Given the description of an element on the screen output the (x, y) to click on. 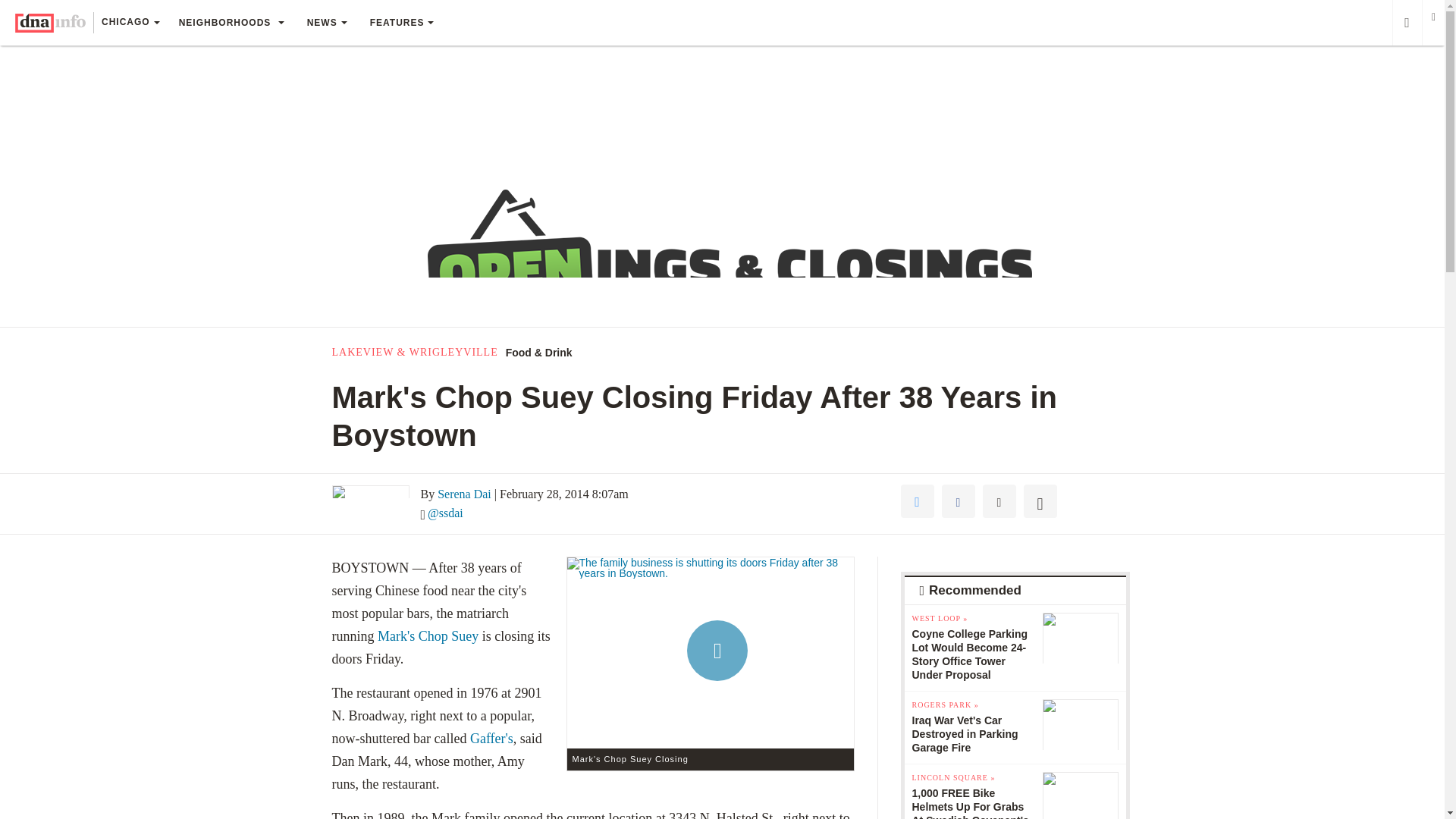
CHICAGO (130, 23)
NEIGHBORHOODS (231, 22)
Chicago - Home (49, 22)
NEWS (326, 22)
FEATURES (401, 22)
